Given the description of an element on the screen output the (x, y) to click on. 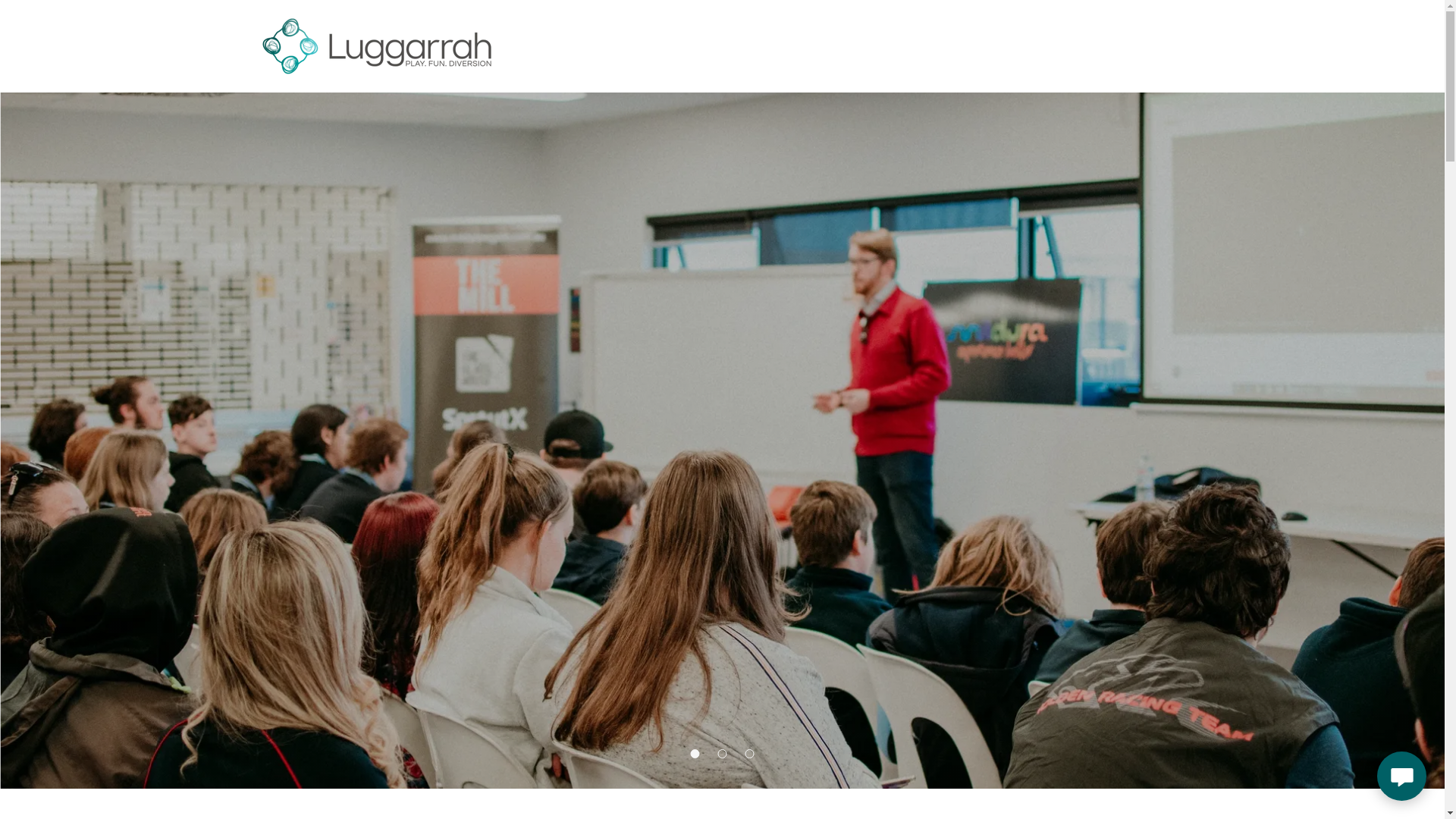
LUGGARRAH Element type: hover (375, 43)
